Given the description of an element on the screen output the (x, y) to click on. 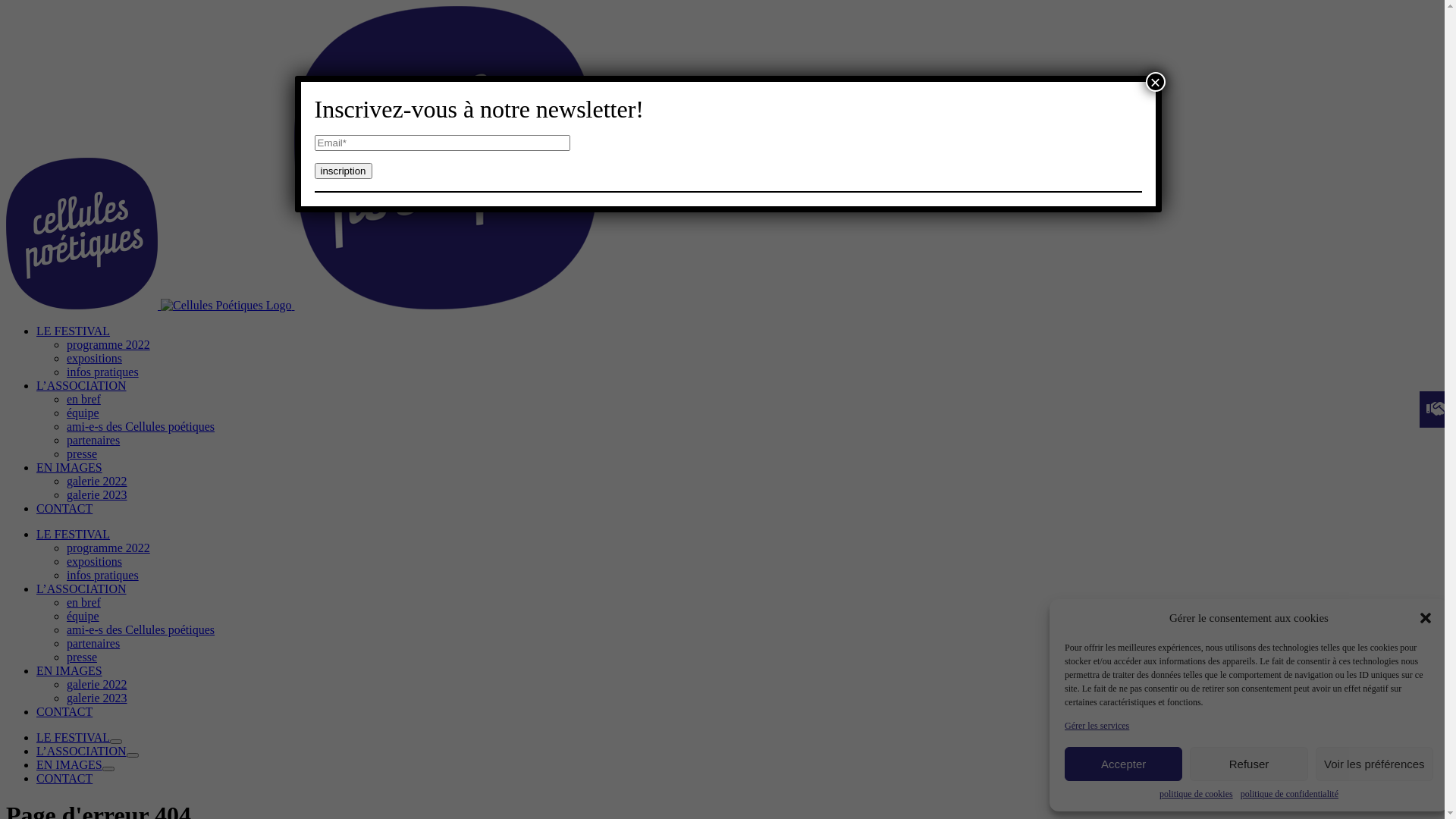
presse Element type: text (81, 453)
infos pratiques Element type: text (102, 574)
programme 2022 Element type: text (108, 344)
expositions Element type: text (94, 357)
LE FESTIVAL Element type: text (72, 533)
CONTACT Element type: text (64, 711)
politique de cookies Element type: text (1196, 794)
Accepter Element type: text (1123, 763)
EN IMAGES Element type: text (69, 764)
expositions Element type: text (94, 561)
Refuser Element type: text (1248, 763)
galerie 2022 Element type: text (96, 683)
galerie 2022 Element type: text (96, 480)
programme 2022 Element type: text (108, 547)
Passer au contenu Element type: text (11, 5)
presse Element type: text (81, 656)
galerie 2023 Element type: text (96, 697)
en bref Element type: text (83, 602)
CONTACT Element type: text (64, 777)
EN IMAGES Element type: text (69, 467)
galerie 2023 Element type: text (96, 494)
LE FESTIVAL Element type: text (72, 330)
LE FESTIVAL Element type: text (72, 737)
infos pratiques Element type: text (102, 371)
partenaires Element type: text (92, 439)
partenaires Element type: text (92, 643)
EN IMAGES Element type: text (69, 670)
en bref Element type: text (83, 398)
CONTACT Element type: text (64, 508)
inscription Element type: text (342, 170)
